Given the description of an element on the screen output the (x, y) to click on. 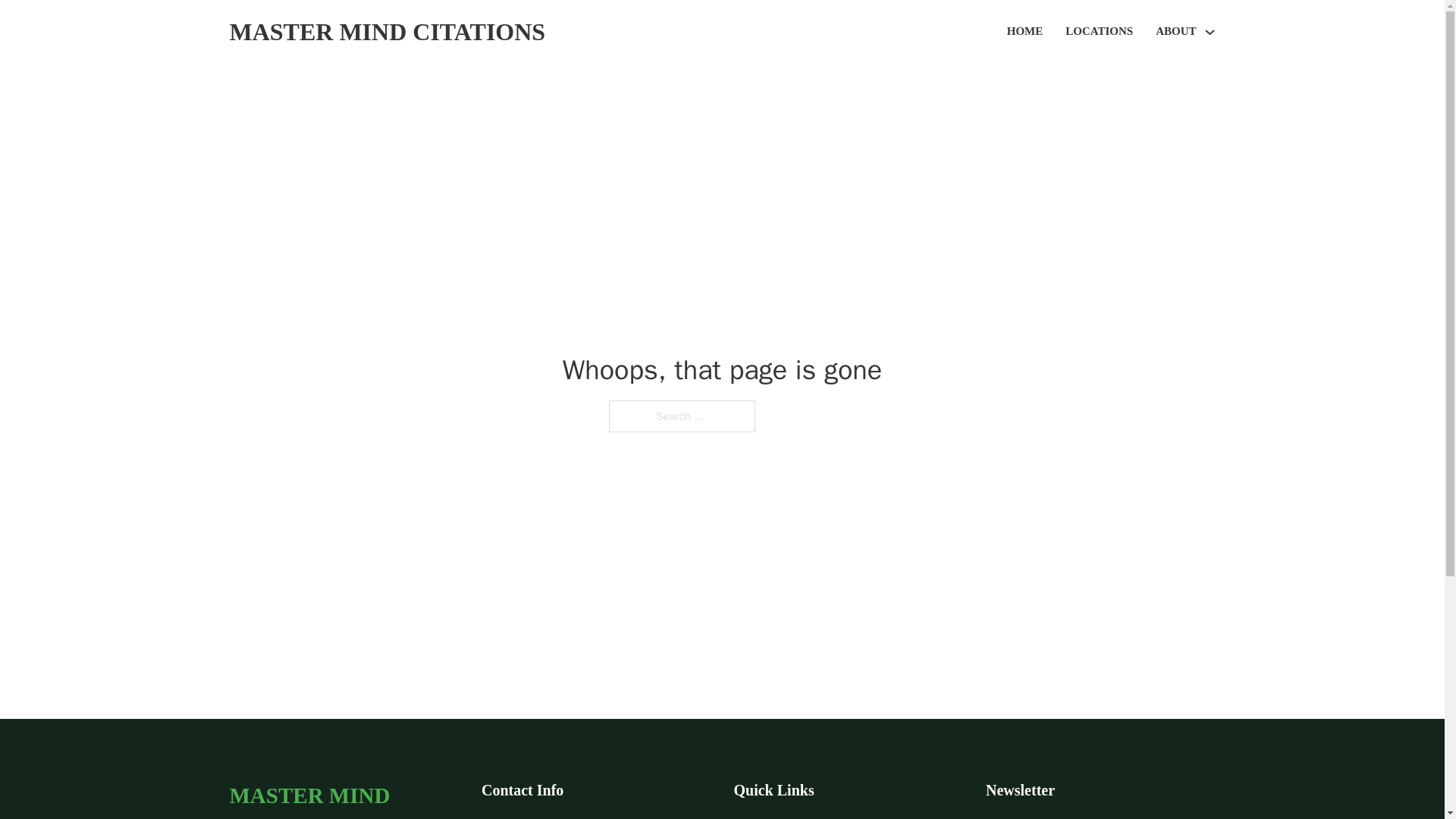
MASTER MIND CITATIONS (343, 798)
MASTER MIND CITATIONS (386, 31)
LOCATIONS (1098, 31)
HOME (1025, 31)
